Given the description of an element on the screen output the (x, y) to click on. 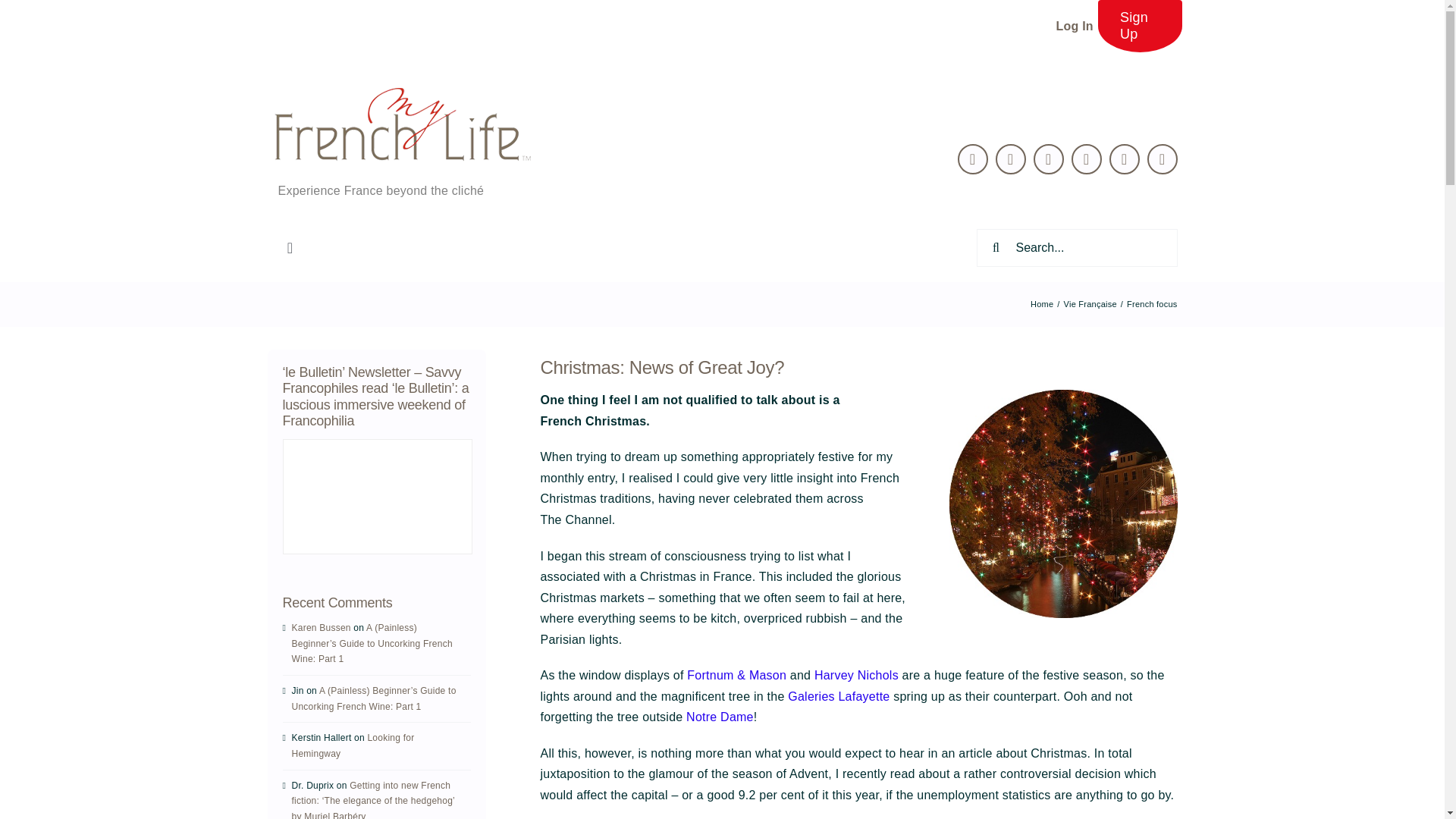
Harvey Nichols (855, 675)
Galeries Lafayette (838, 696)
Log In (1074, 25)
Treats in store at Galeries Lafayette (838, 696)
No windows to see online, but have a look anyway! (855, 675)
YouTube (1124, 159)
A useful website when you're visiting Paris (719, 716)
Toggle Navigation (289, 247)
Pinterest (1086, 159)
Facebook (1010, 159)
Notre Dame (719, 716)
French focus (1151, 303)
X (973, 159)
Sign Up (1139, 26)
LinkedIn (1048, 159)
